Given the description of an element on the screen output the (x, y) to click on. 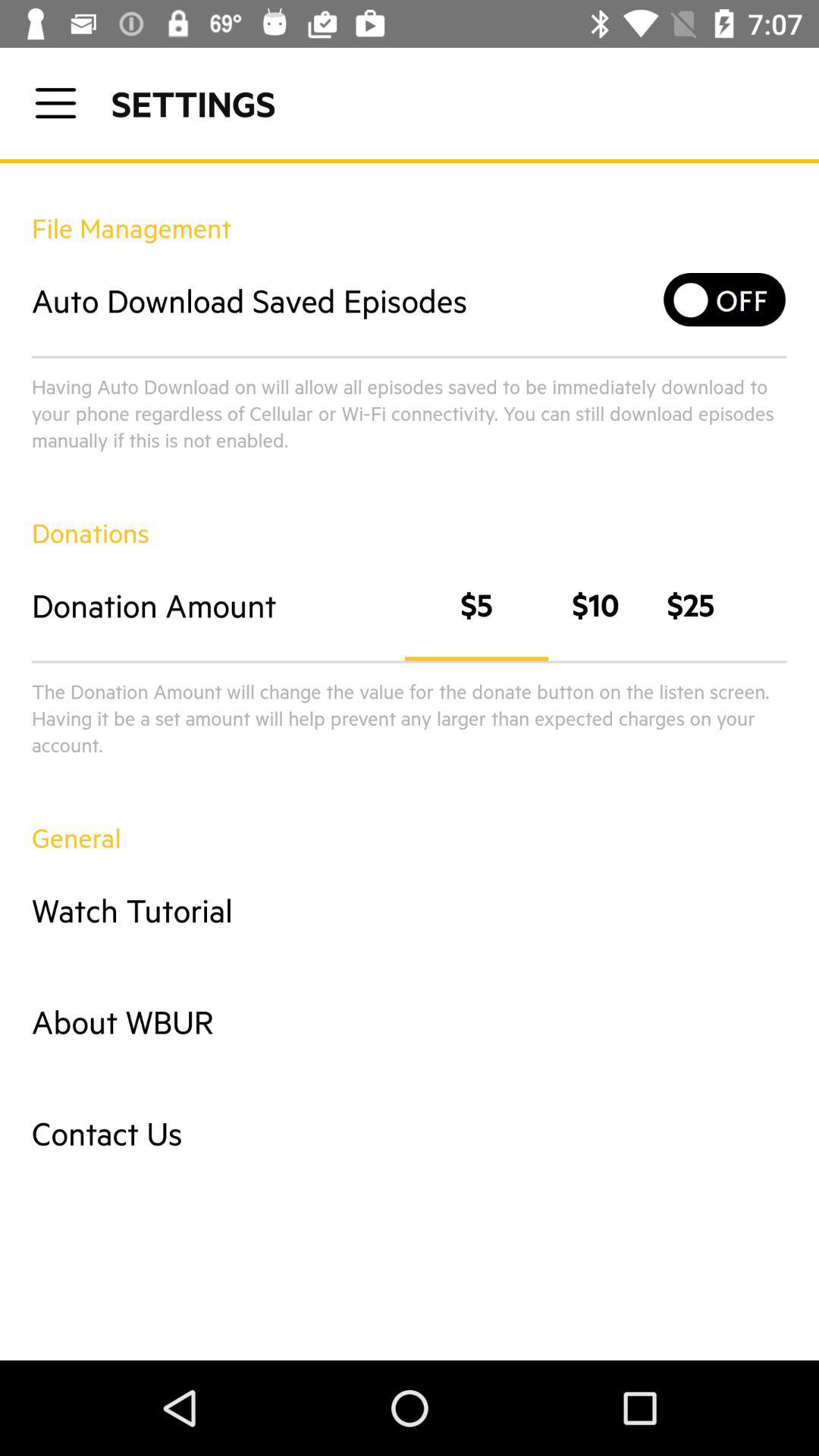
swipe to the watch tutorial (409, 909)
